Given the description of an element on the screen output the (x, y) to click on. 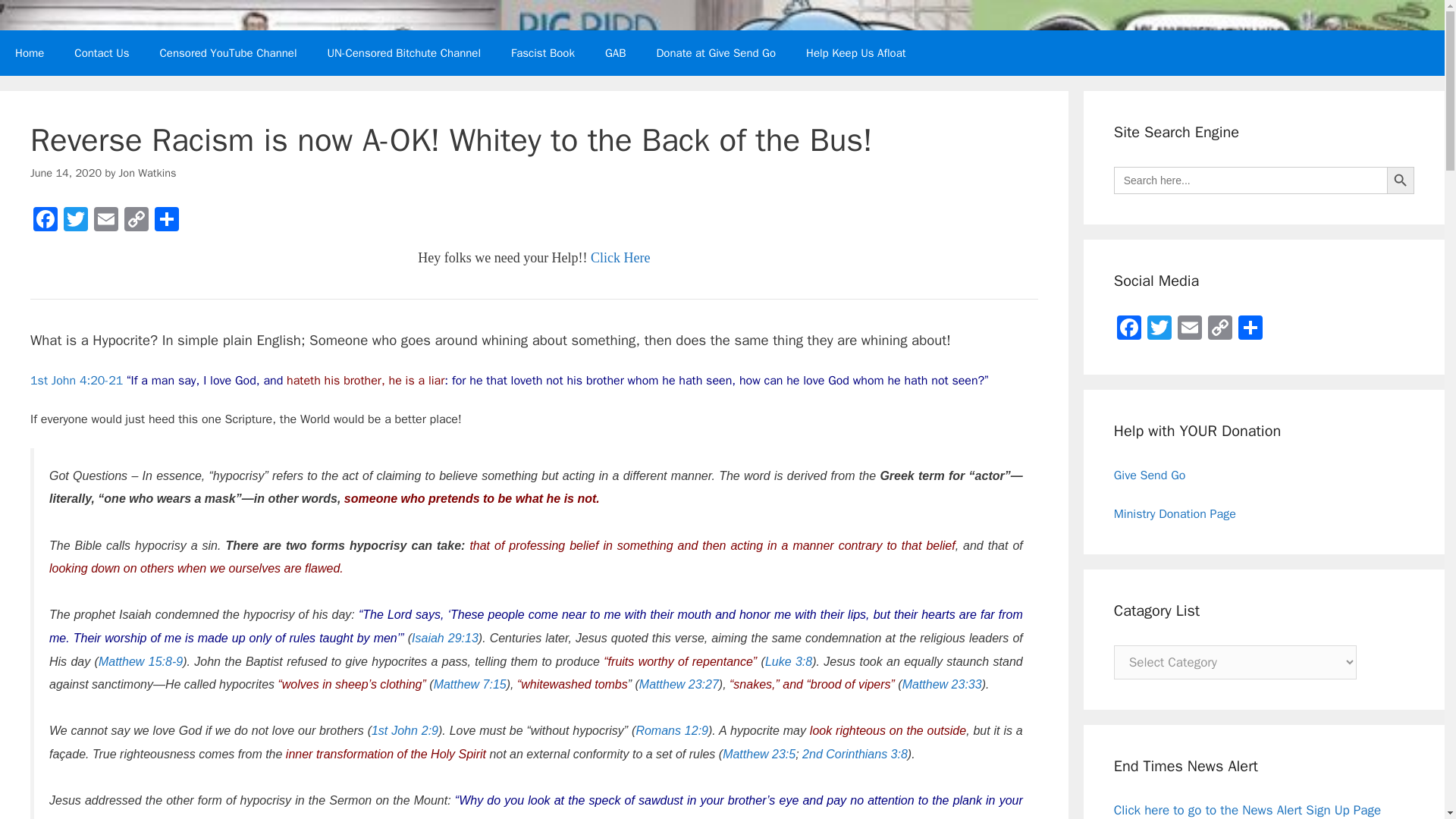
1st John 4:20-21 (76, 380)
Donate at Give Send Go (715, 53)
Email (105, 221)
Fascist Book (542, 53)
A great alternitive to Twitter (615, 53)
UN-Censored Bitchute Channel (404, 53)
Jon Watkins (147, 172)
Copy Link (135, 221)
Twitter (75, 221)
Contact Us (101, 53)
